Given the description of an element on the screen output the (x, y) to click on. 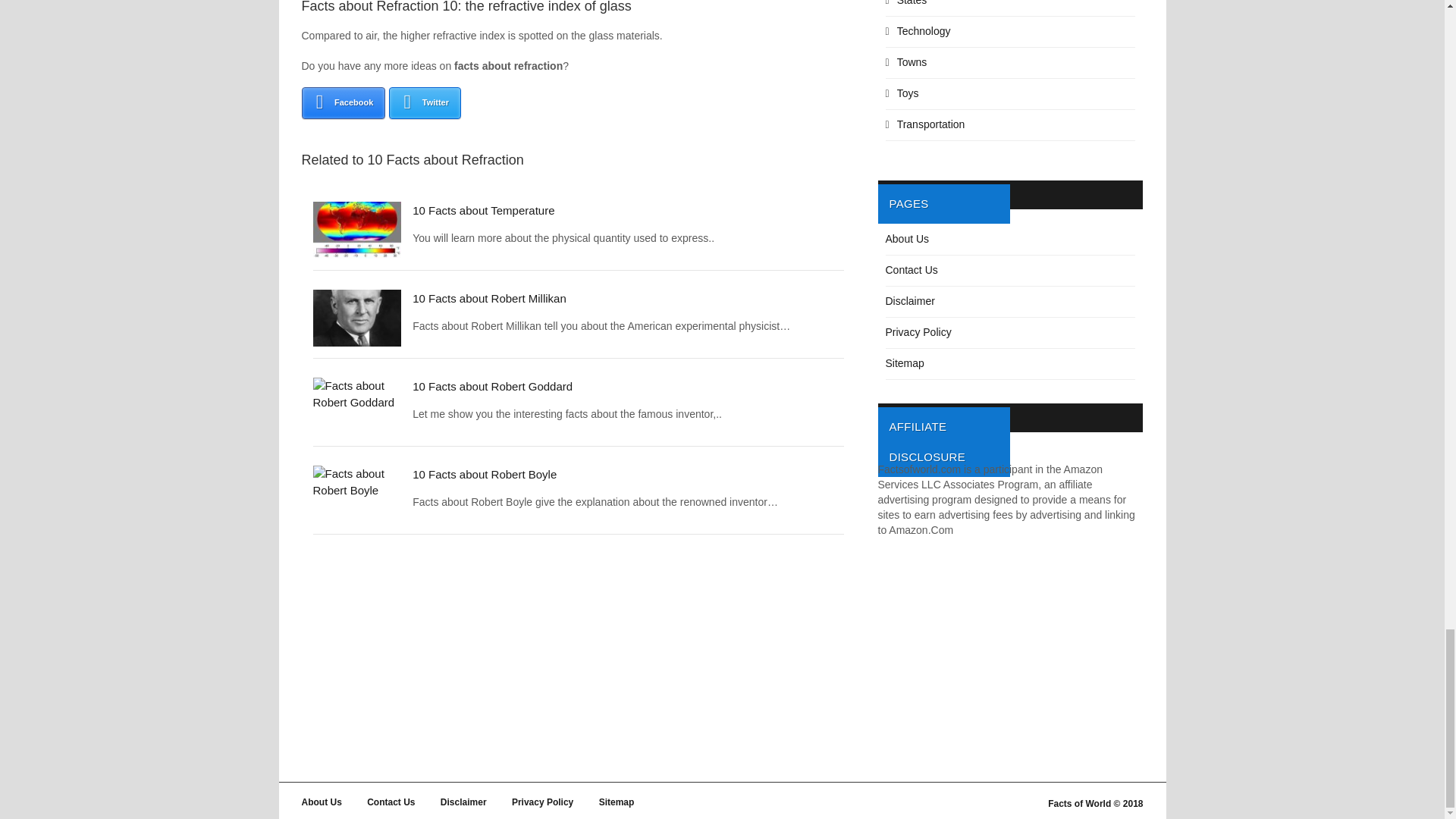
10 Facts about Robert Millikan (489, 297)
Facebook (343, 102)
10 Facts about Robert Boyle (484, 473)
10 Facts about Robert Goddard (492, 386)
10 Facts about Temperature (483, 210)
Twitter (424, 102)
